Given the description of an element on the screen output the (x, y) to click on. 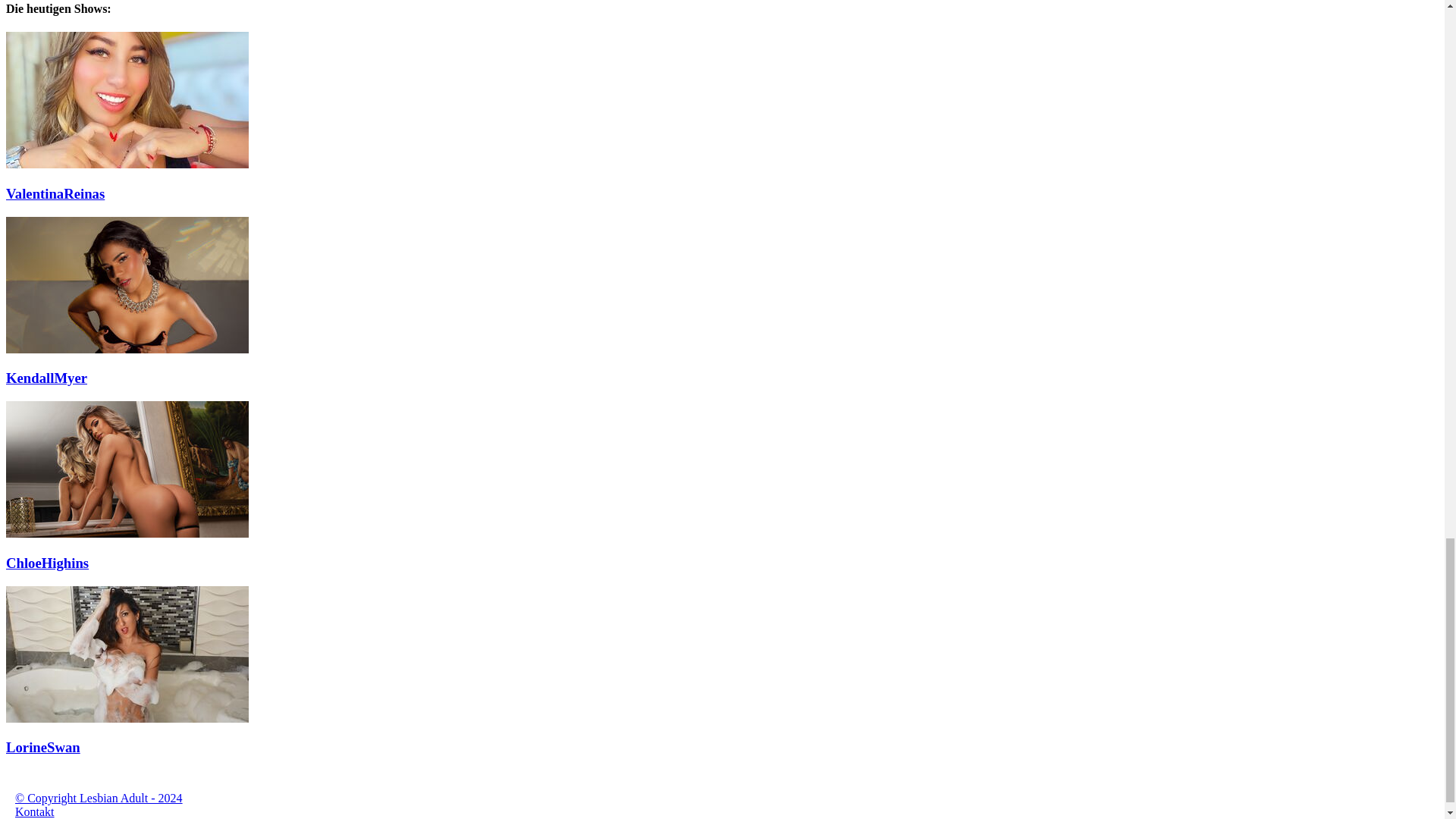
KendallMyer webcam show (126, 349)
ValentinaReinas webcam show (126, 164)
